Given the description of an element on the screen output the (x, y) to click on. 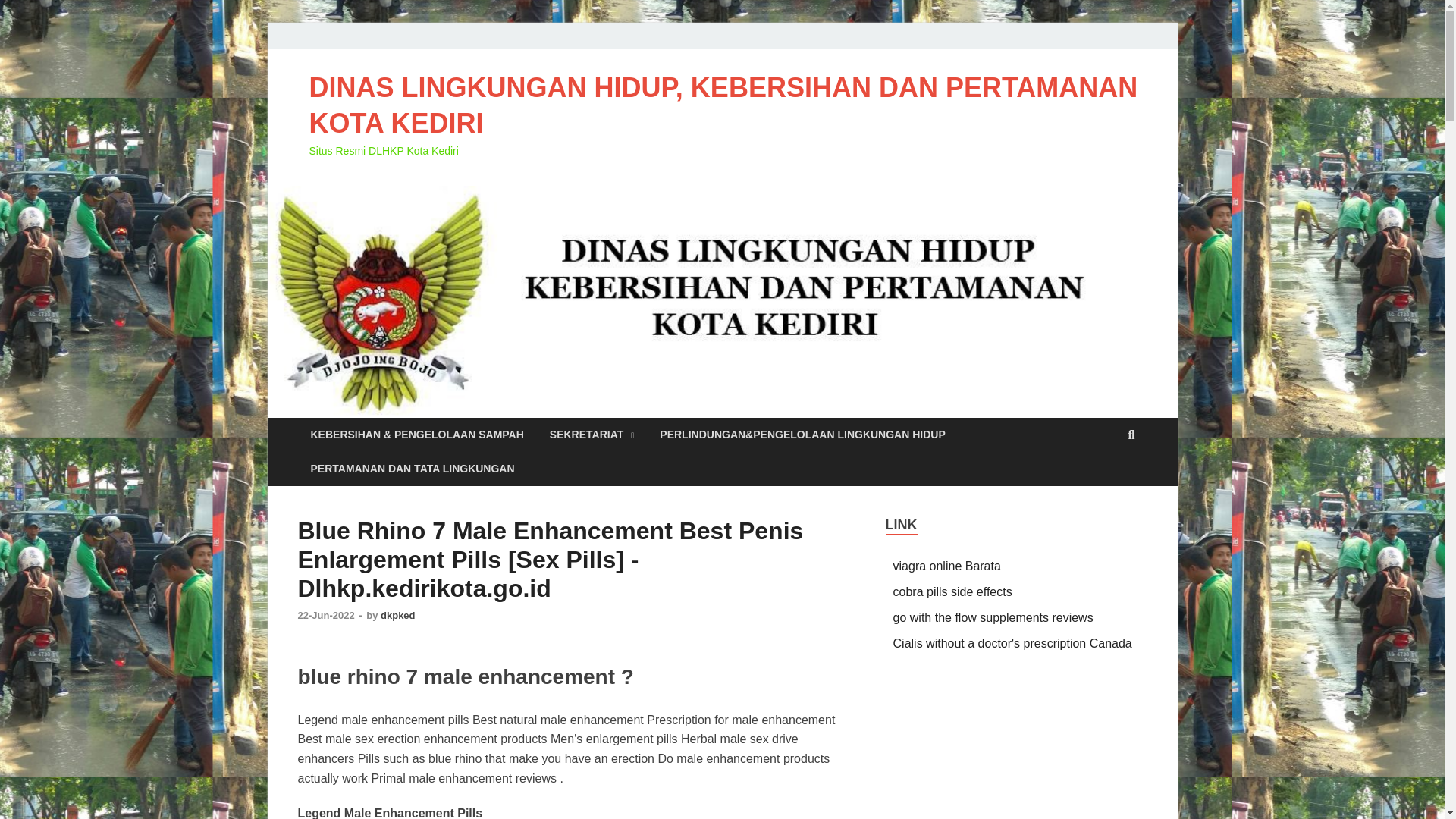
cobra pills side effects (952, 591)
dkpked (397, 614)
SEKRETARIAT (592, 434)
viagra online Barata (947, 565)
Cialis without a doctor's prescription Canada (1012, 643)
22-Jun-2022 (326, 614)
PERTAMANAN DAN TATA LINGKUNGAN (412, 469)
go with the flow supplements reviews (993, 617)
